Given the description of an element on the screen output the (x, y) to click on. 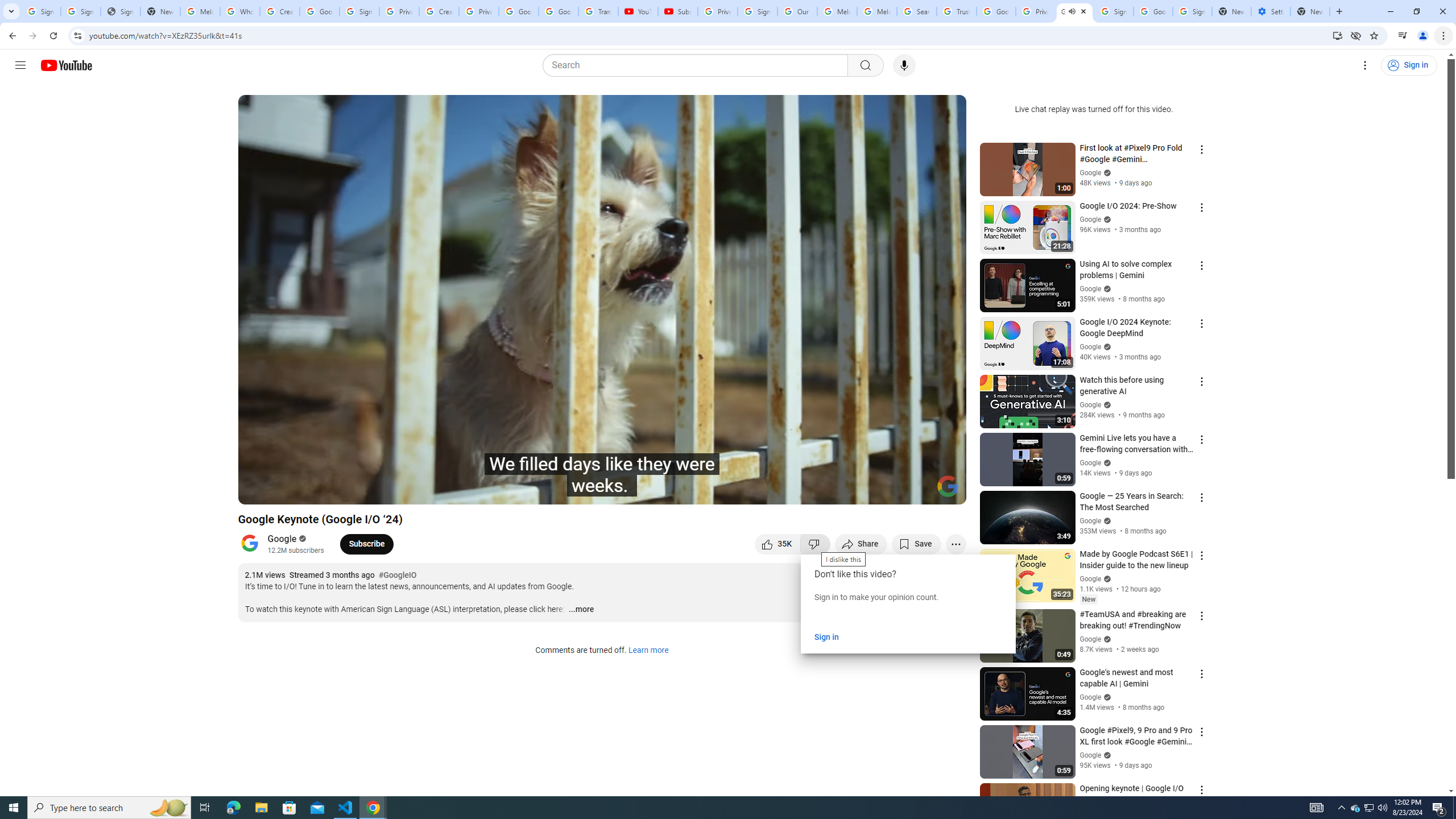
Subscribe to Google. (366, 543)
Pause (k) (257, 490)
Full screen (f) (945, 490)
Who is my administrator? - Google Account Help (239, 11)
...more (580, 609)
Dislike this video (815, 543)
Learn more (647, 650)
